Given the description of an element on the screen output the (x, y) to click on. 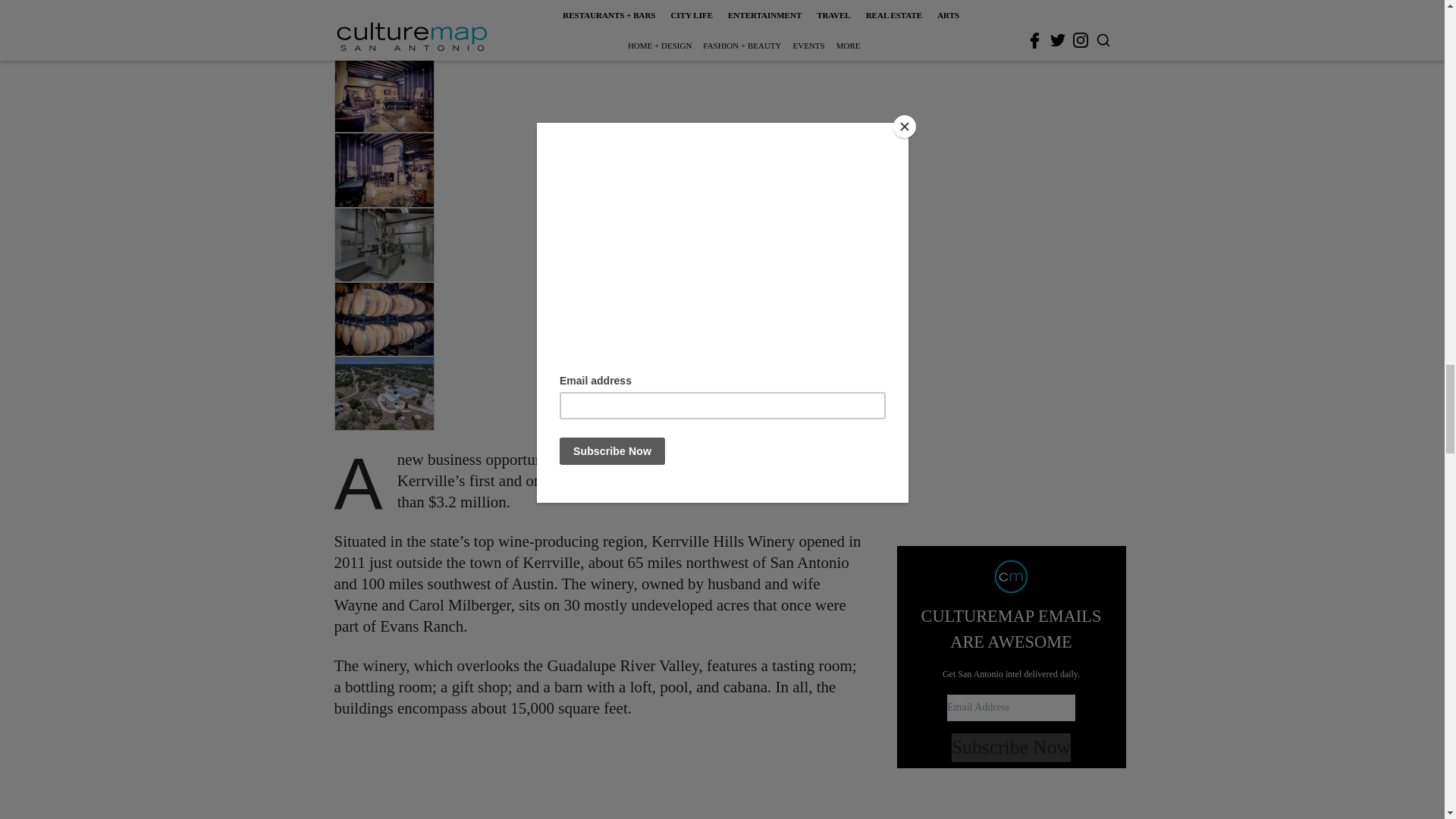
3rd party ad content (600, 778)
